Given the description of an element on the screen output the (x, y) to click on. 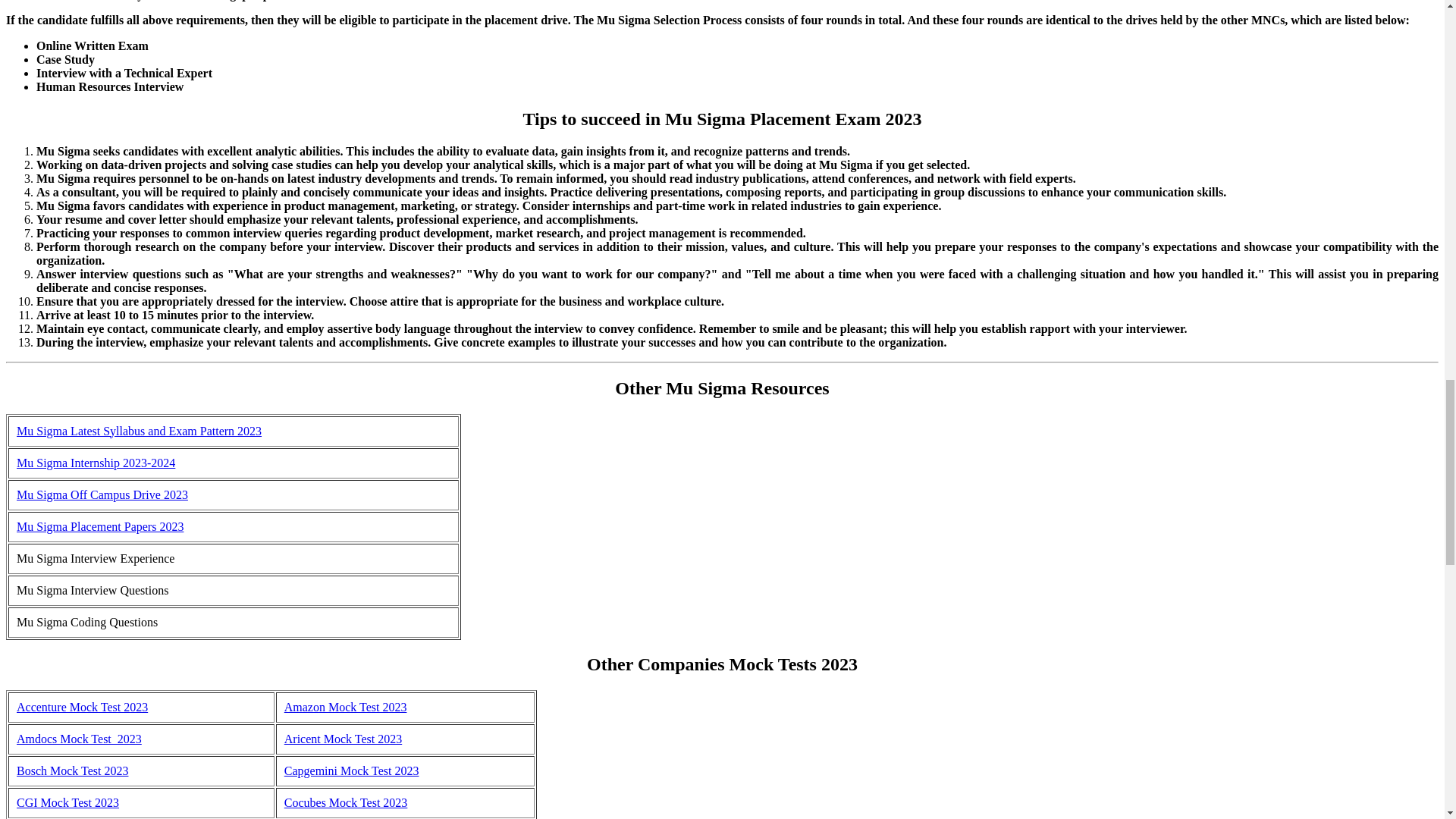
Mu Sigma Off Campus Drive 2023 (101, 494)
Amdocs Mock Test  2023 (78, 738)
Mu Sigma Internship 2023-2024 (95, 462)
CGI Mock Test 2023 (67, 802)
Mu Sigma Placement Papers 2023 (99, 526)
Capgemini Mock Test 2023 (351, 770)
Amazon Mock Test 2023 (345, 707)
Accenture Mock Test 2023 (82, 707)
Cocubes Mock Test 2023 (345, 802)
Aricent Mock Test 2023 (342, 738)
Mu Sigma Latest Syllabus and Exam Pattern 2023 (139, 431)
Bosch Mock Test 2023 (72, 770)
